Given the description of an element on the screen output the (x, y) to click on. 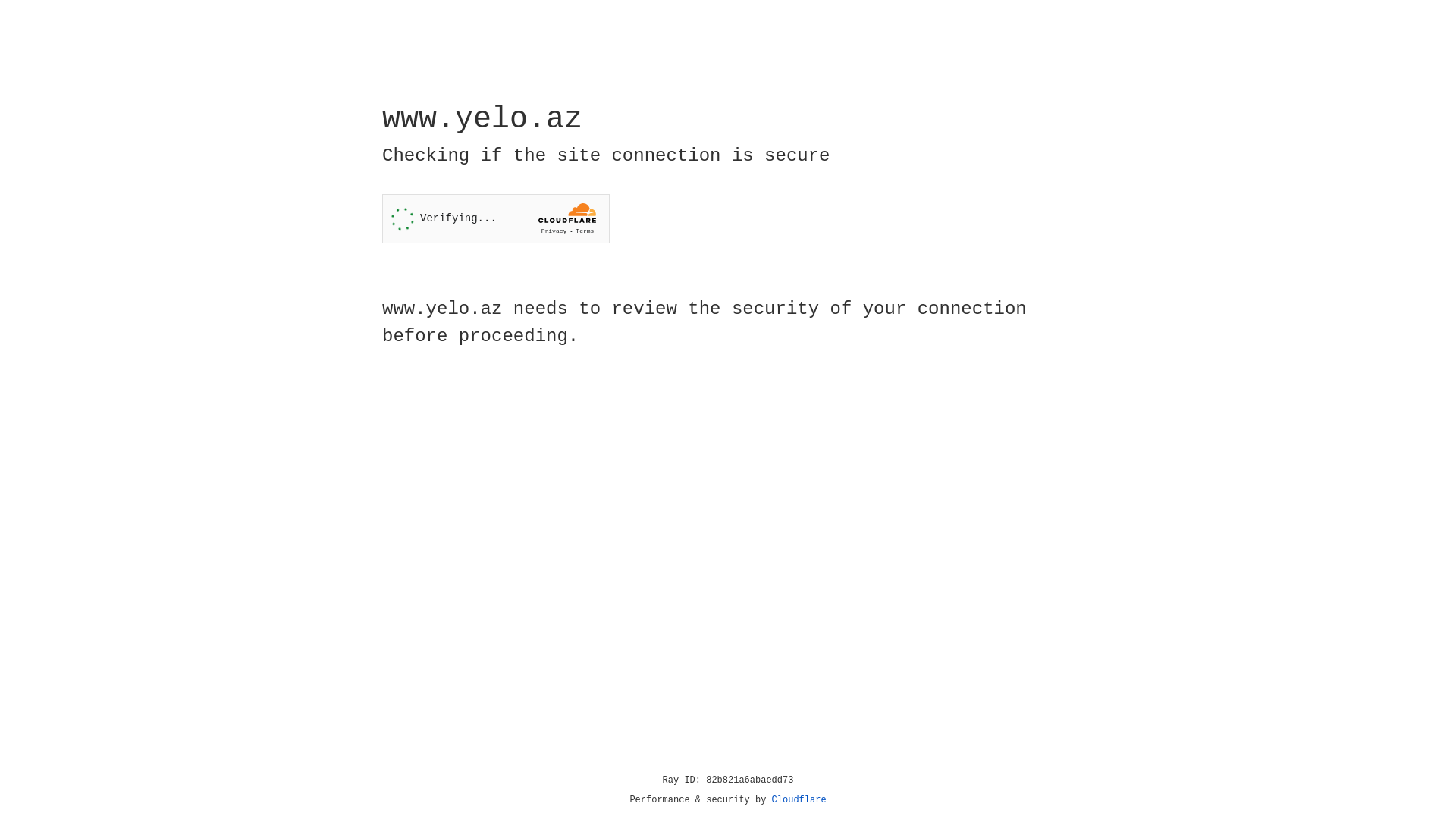
Widget containing a Cloudflare security challenge Element type: hover (495, 218)
Cloudflare Element type: text (798, 799)
